Given the description of an element on the screen output the (x, y) to click on. 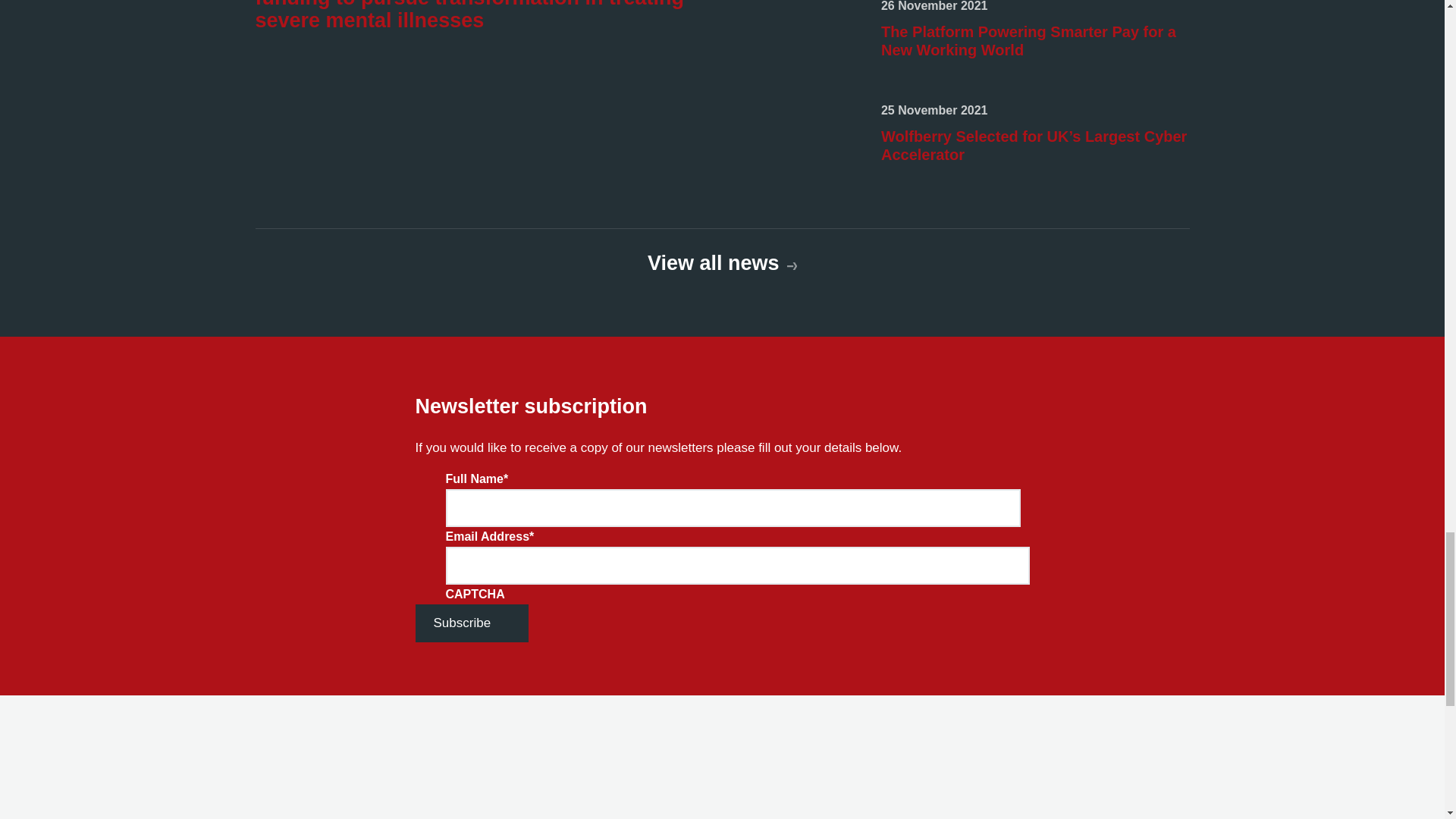
Subscribe (471, 622)
